Given the description of an element on the screen output the (x, y) to click on. 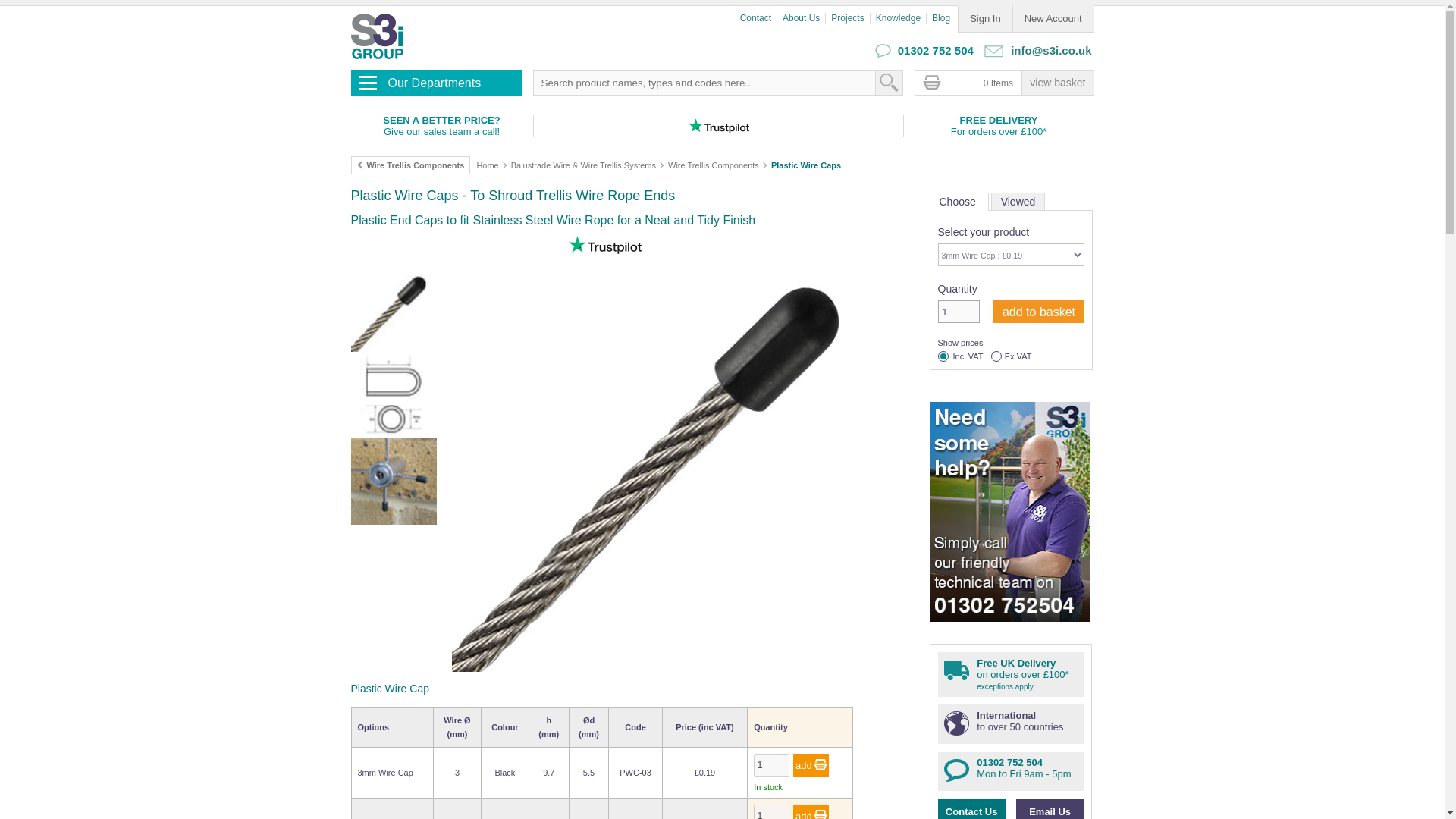
Sign in to my existing account (984, 18)
View Basket (1057, 82)
Contact (758, 18)
Go (888, 82)
About Us (804, 18)
Knowledge (901, 18)
Go (810, 811)
1 (771, 811)
add to basket (1038, 311)
1 (771, 764)
Go (888, 82)
Create a new account (1053, 18)
add to basket (1038, 311)
1 (957, 311)
